Given the description of an element on the screen output the (x, y) to click on. 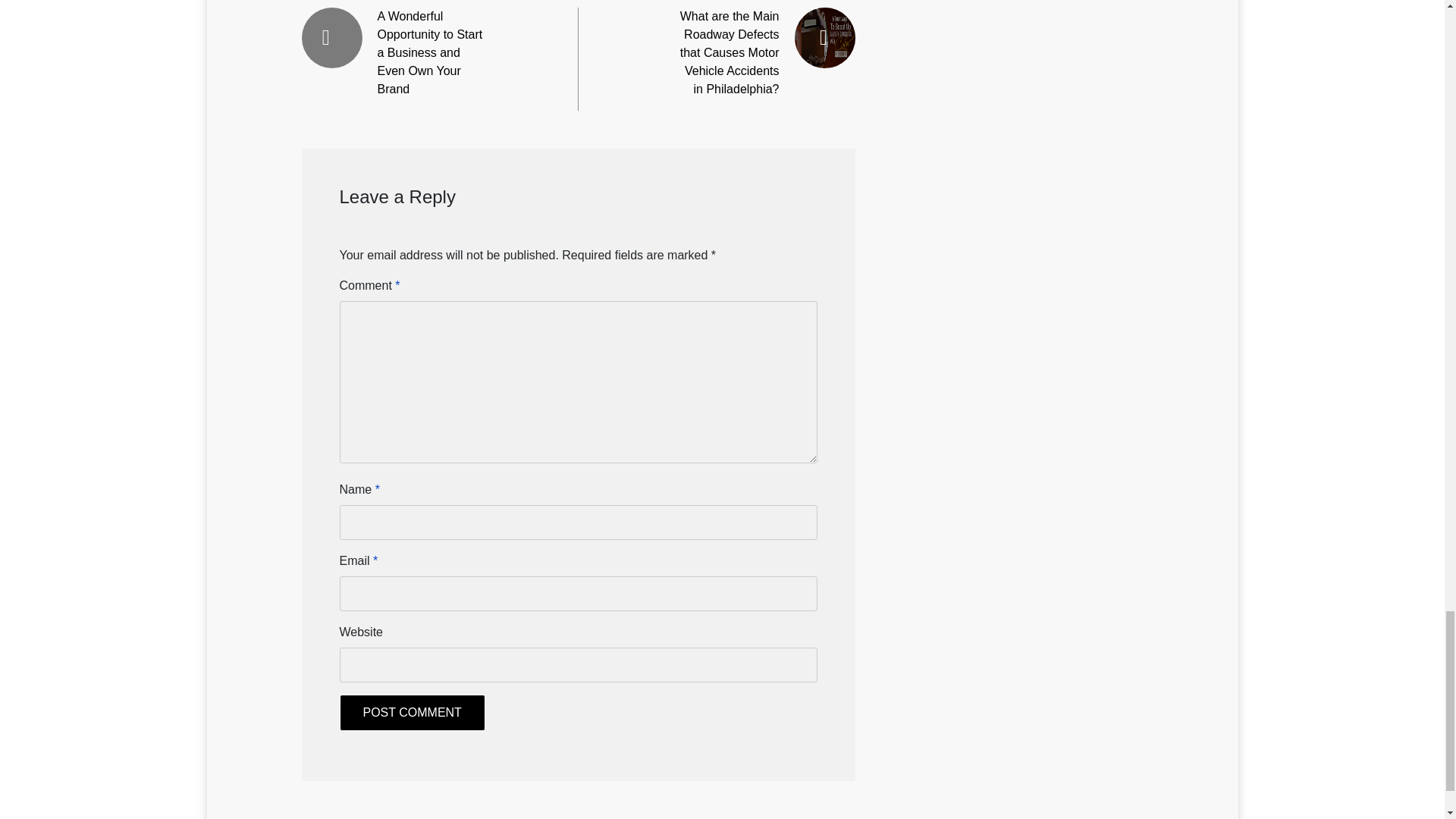
Post Comment (411, 712)
